Given the description of an element on the screen output the (x, y) to click on. 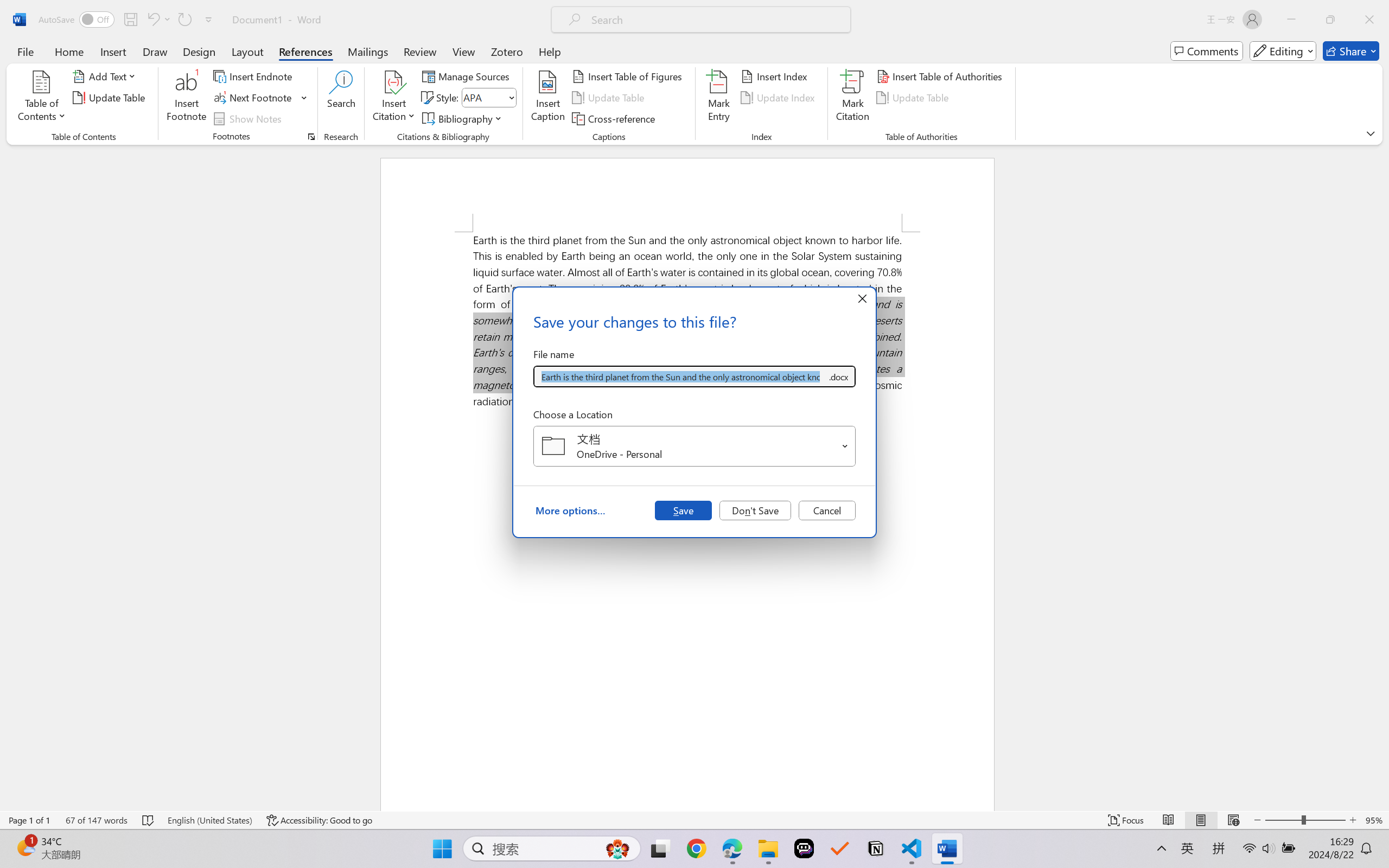
Insert Table of Figures... (628, 75)
Cross-reference... (615, 118)
Choose a Location (694, 446)
Open (844, 446)
Update Table (914, 97)
